Given the description of an element on the screen output the (x, y) to click on. 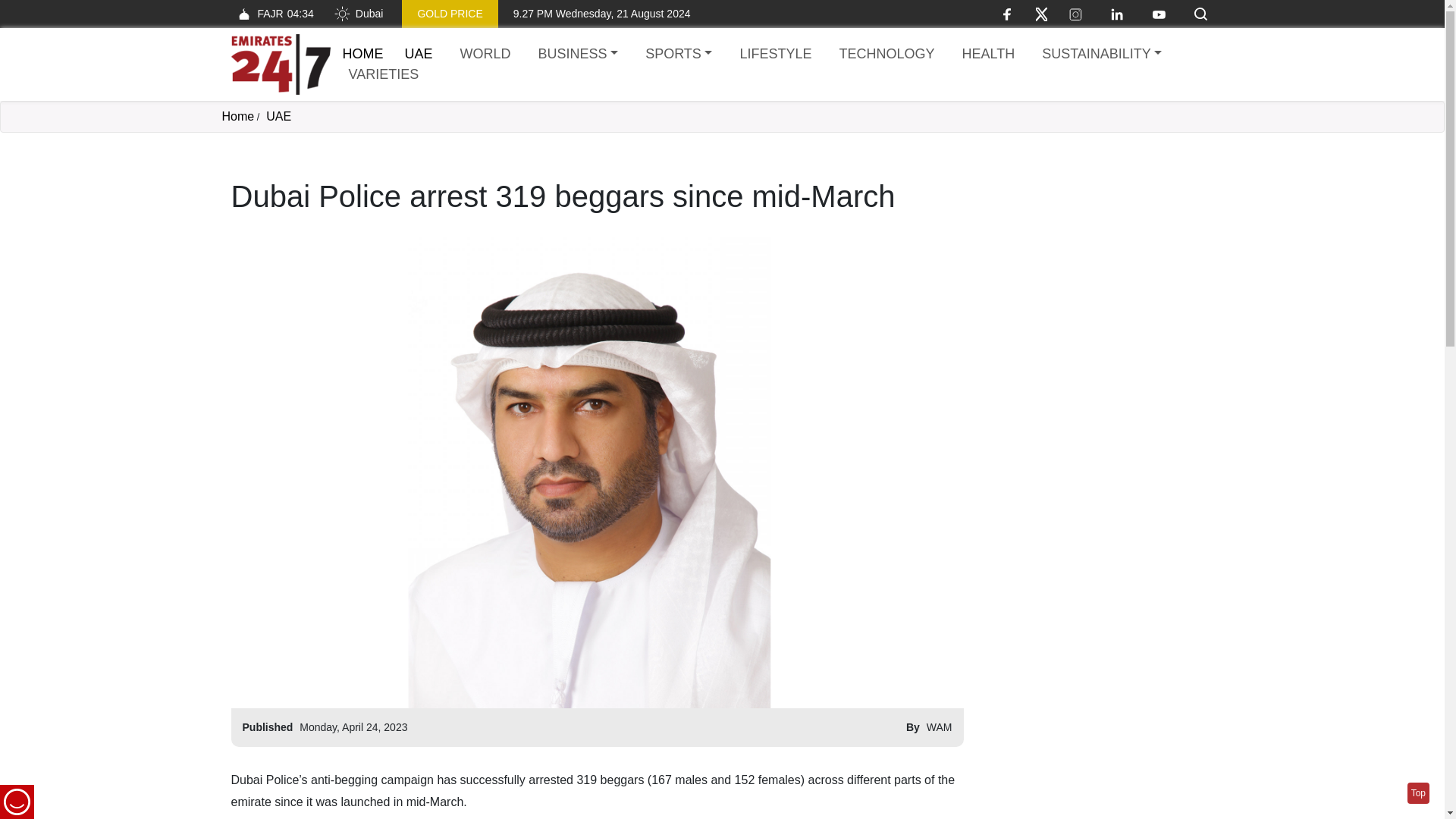
LIFESTYLE (774, 54)
BUSINESS (271, 13)
SPORTS (578, 54)
GOLD PRICE (678, 54)
HOME (449, 13)
Home (363, 53)
Go to top (237, 115)
HEALTH (1418, 792)
Dubai (987, 54)
